Given the description of an element on the screen output the (x, y) to click on. 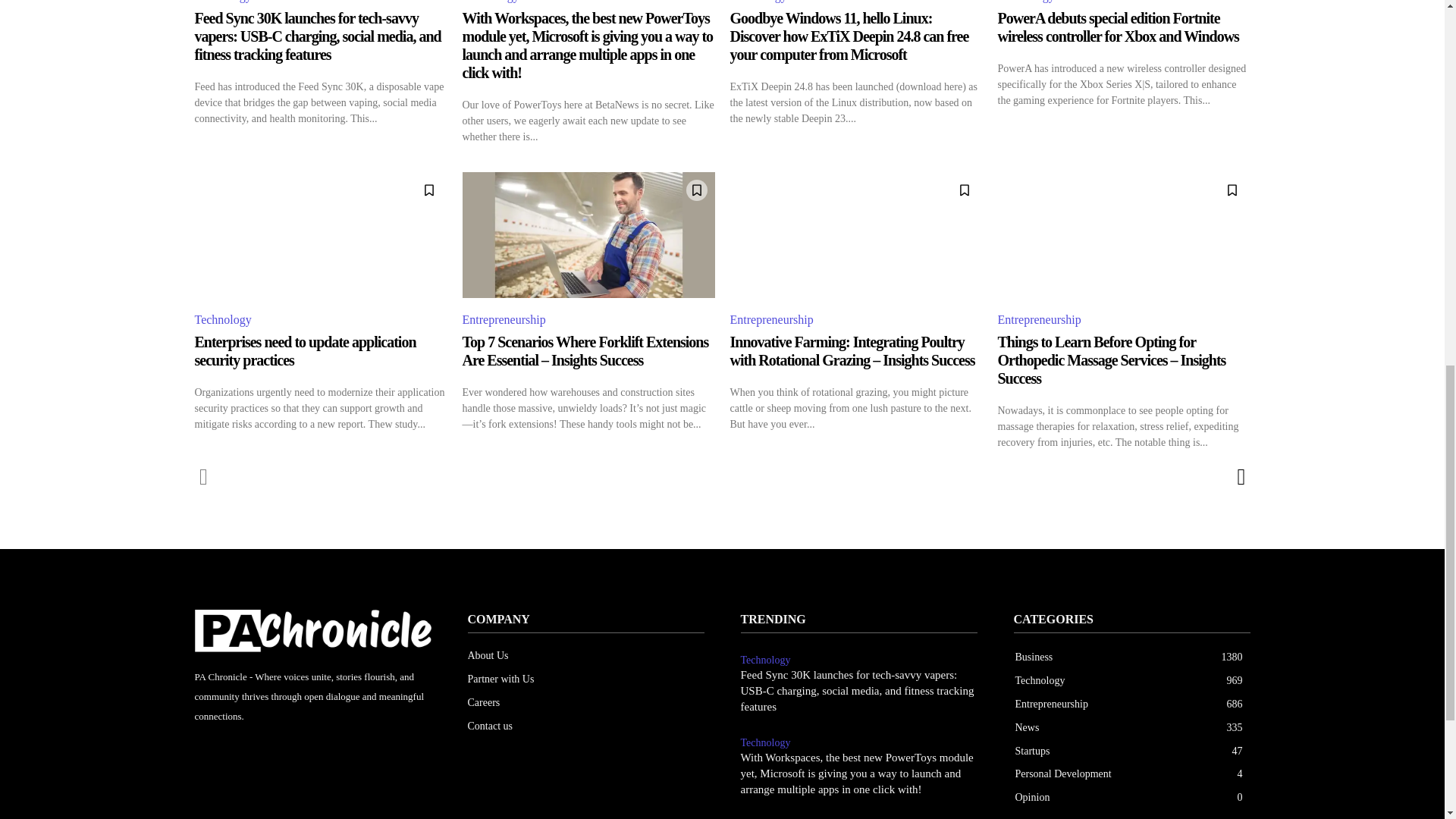
Enterprises need to update application security practices (319, 234)
